Given the description of an element on the screen output the (x, y) to click on. 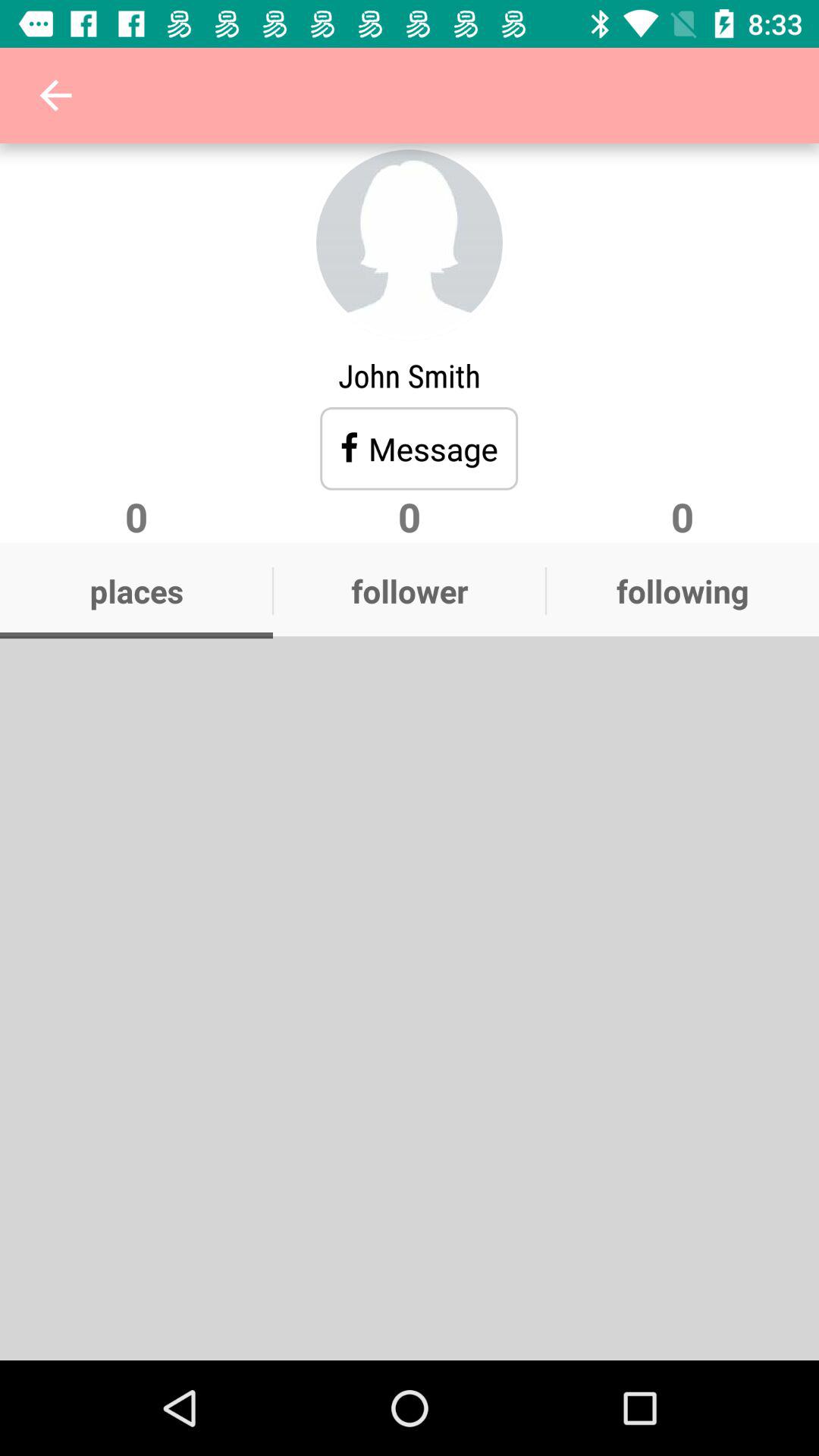
jump to the following icon (682, 590)
